Given the description of an element on the screen output the (x, y) to click on. 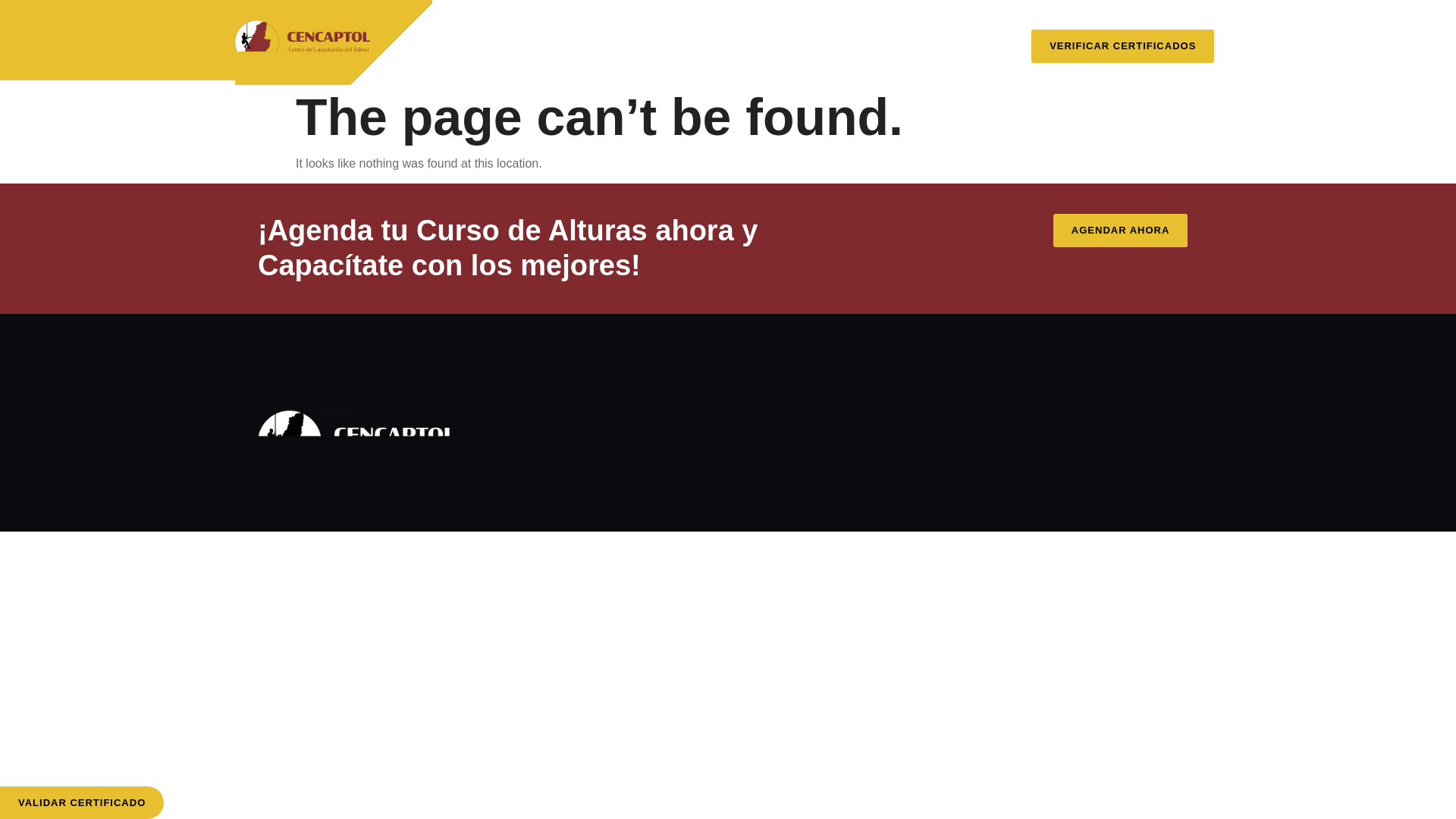
AGENDAR AHORA (1125, 230)
CONTACTO (738, 67)
BLOG (875, 32)
VERIFICAR CERTIFICADOS (1122, 42)
VERIFICAR CERTIFICADOS (1122, 46)
NOSOTROS (570, 32)
SERVICIOS Y CAPACITACIONES (731, 32)
INICIO (481, 32)
AGENDAR AHORA (1120, 230)
